Given the description of an element on the screen output the (x, y) to click on. 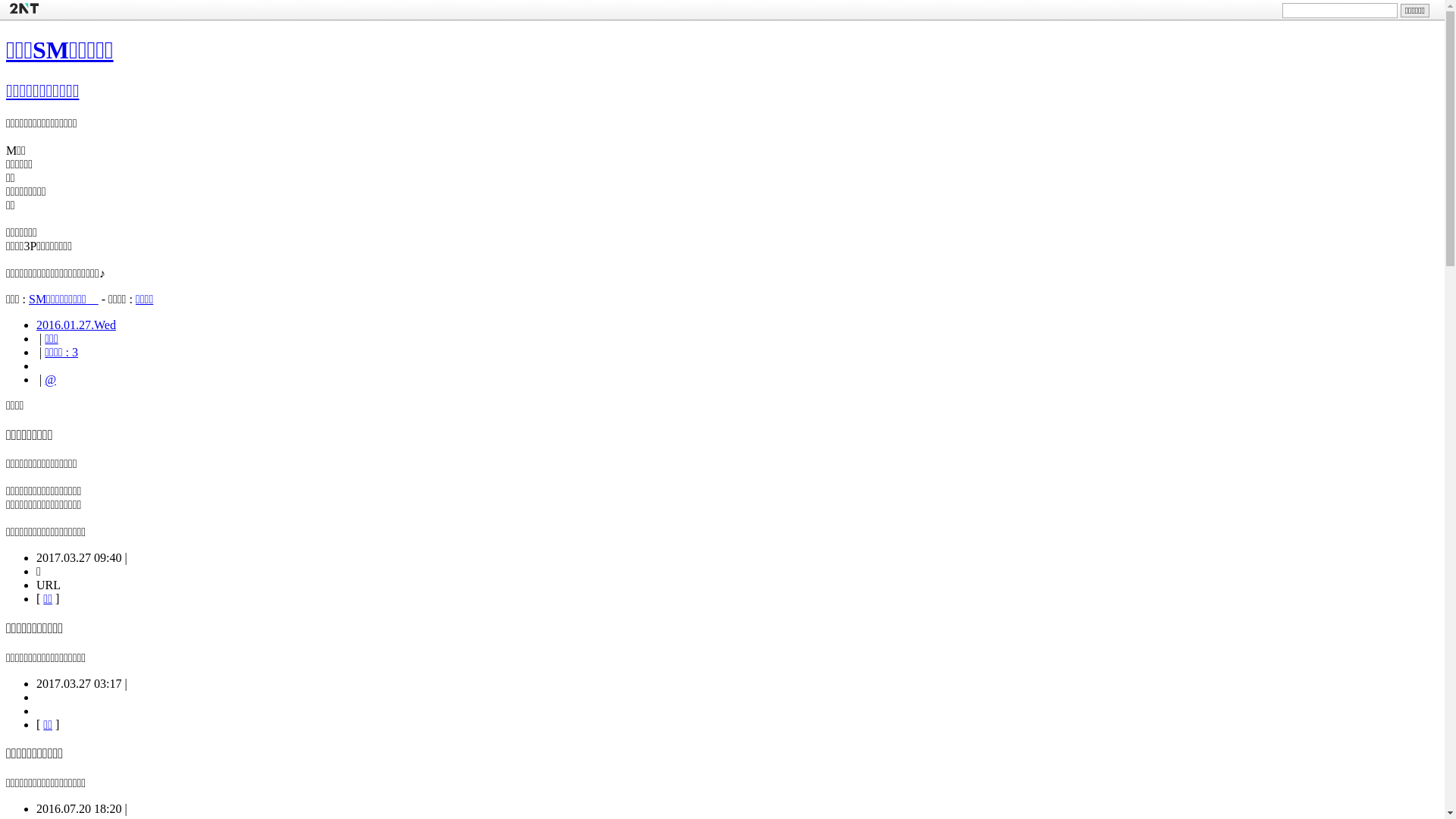
2016.01.27.Wed Element type: text (76, 324)
@ Element type: text (50, 379)
